Given the description of an element on the screen output the (x, y) to click on. 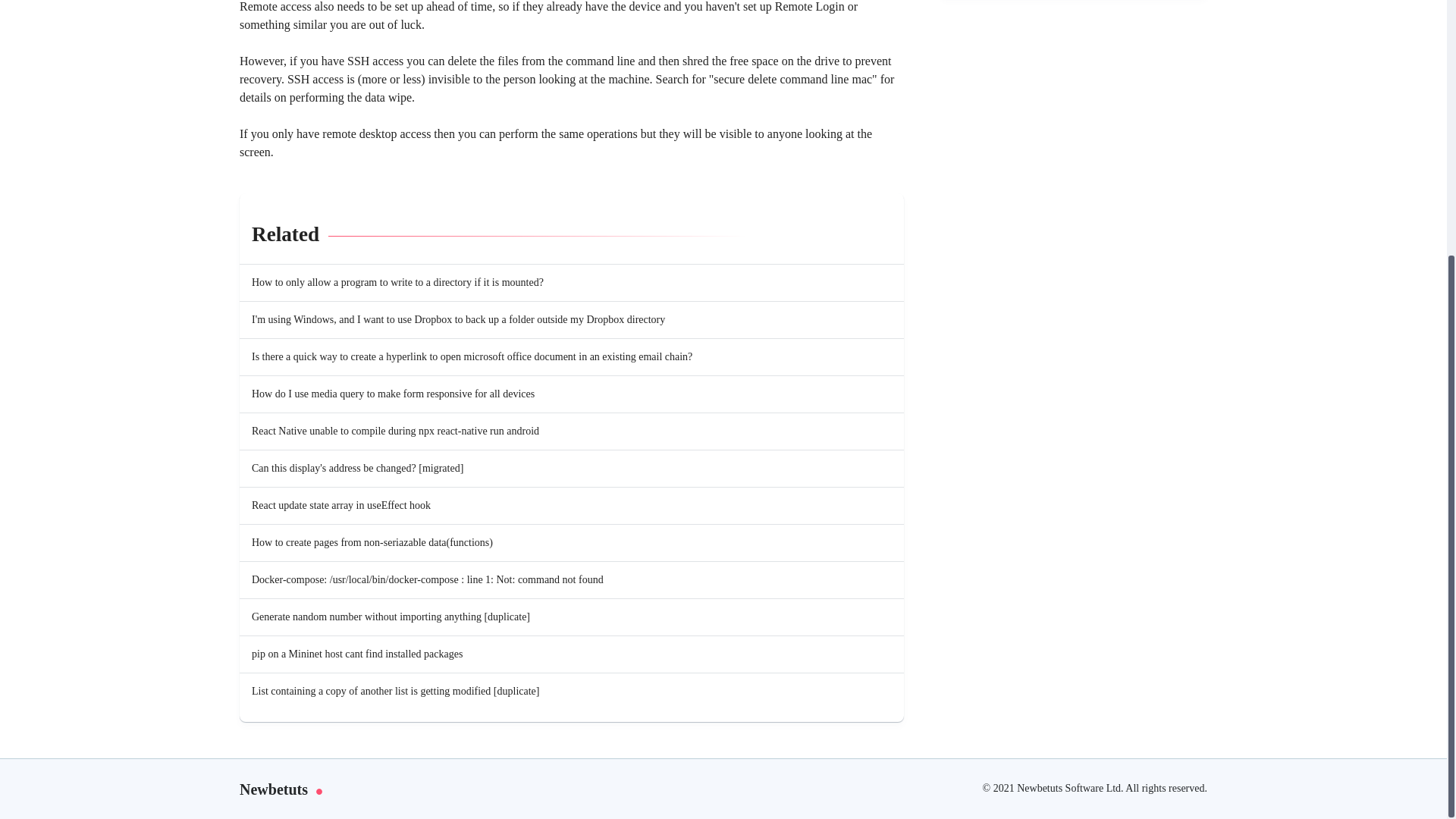
pip on a Mininet host cant find installed packages (357, 654)
React update state array in useEffect hook (340, 505)
Newbetuts . (599, 788)
